Given the description of an element on the screen output the (x, y) to click on. 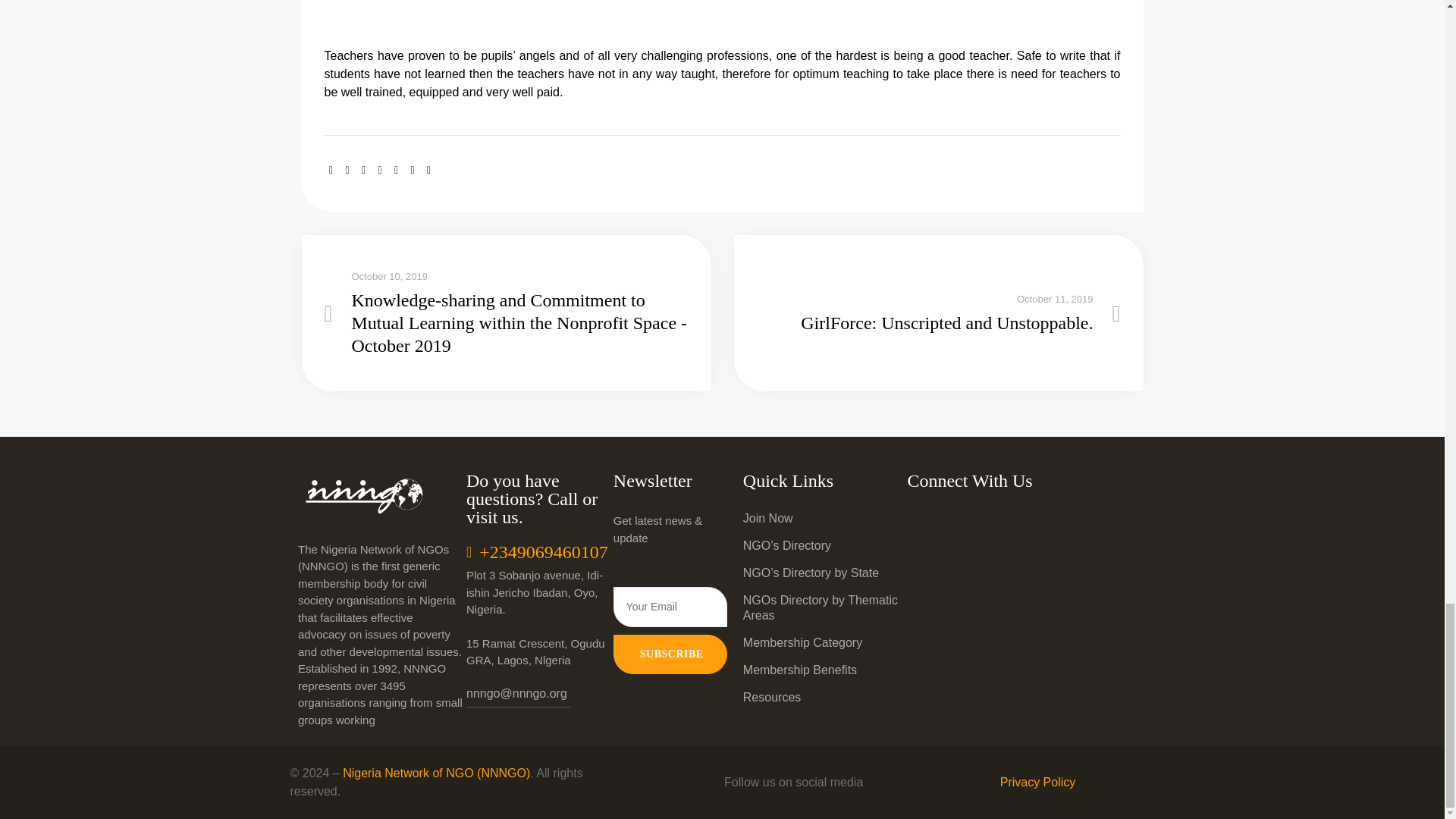
Subscribe (669, 654)
